Given the description of an element on the screen output the (x, y) to click on. 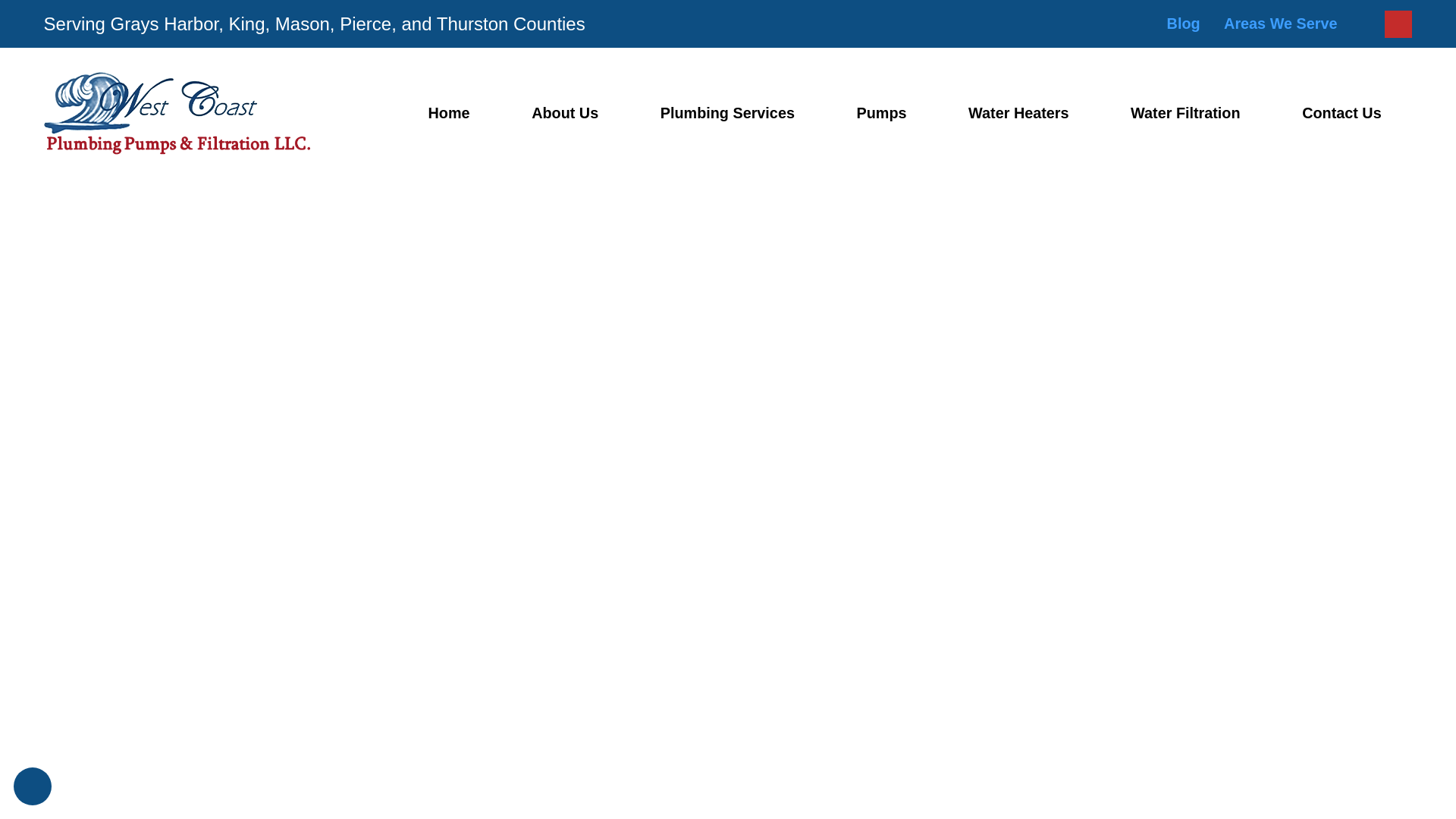
About Us (564, 113)
Search Our Site (1398, 23)
Areas We Serve (1280, 23)
Plumbing Services (726, 113)
Home (448, 113)
Search Icon (1398, 23)
Pumps (881, 113)
Water Heaters (1018, 113)
Blog (1183, 23)
